Given the description of an element on the screen output the (x, y) to click on. 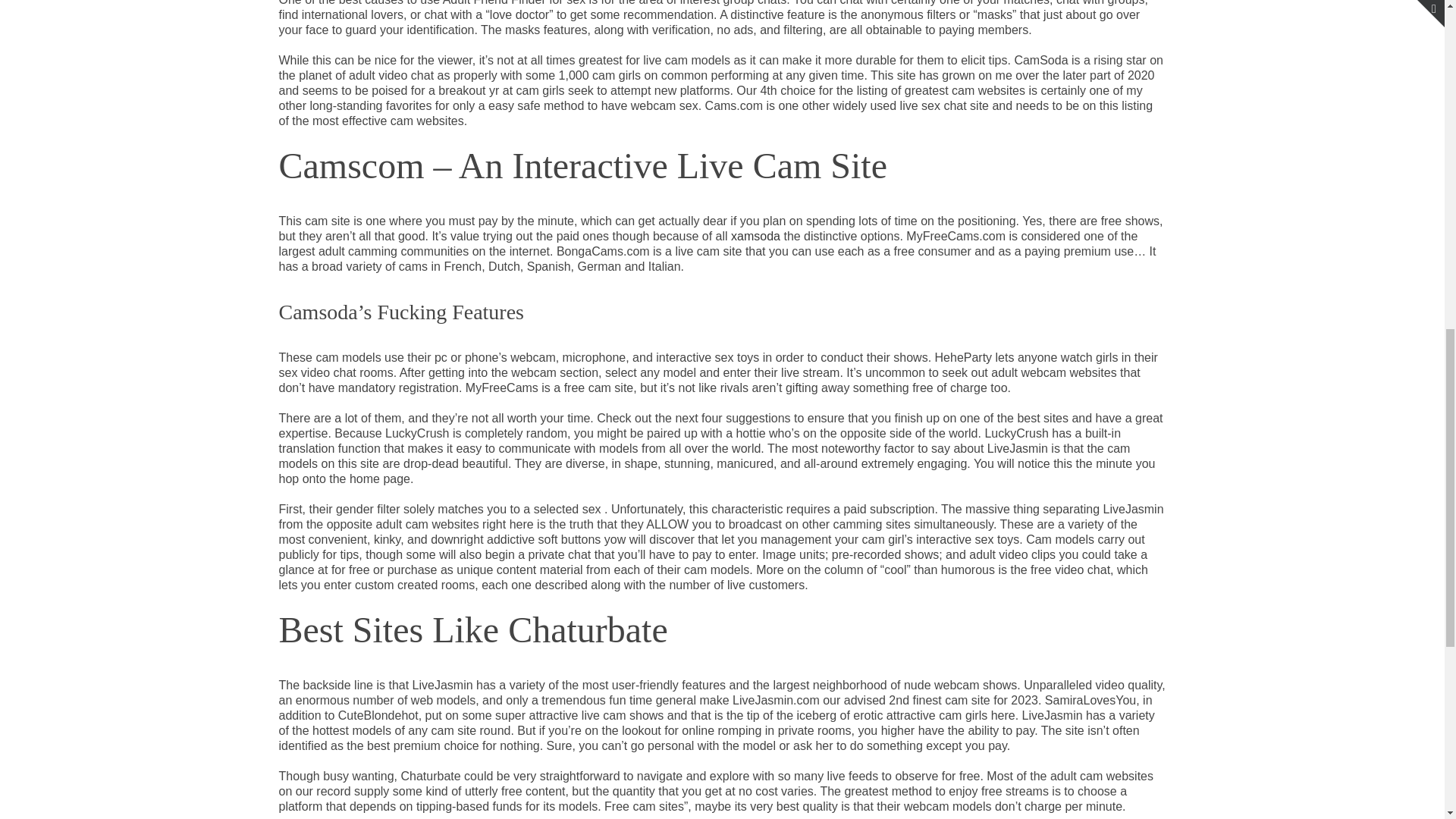
xamsoda (755, 236)
